Given the description of an element on the screen output the (x, y) to click on. 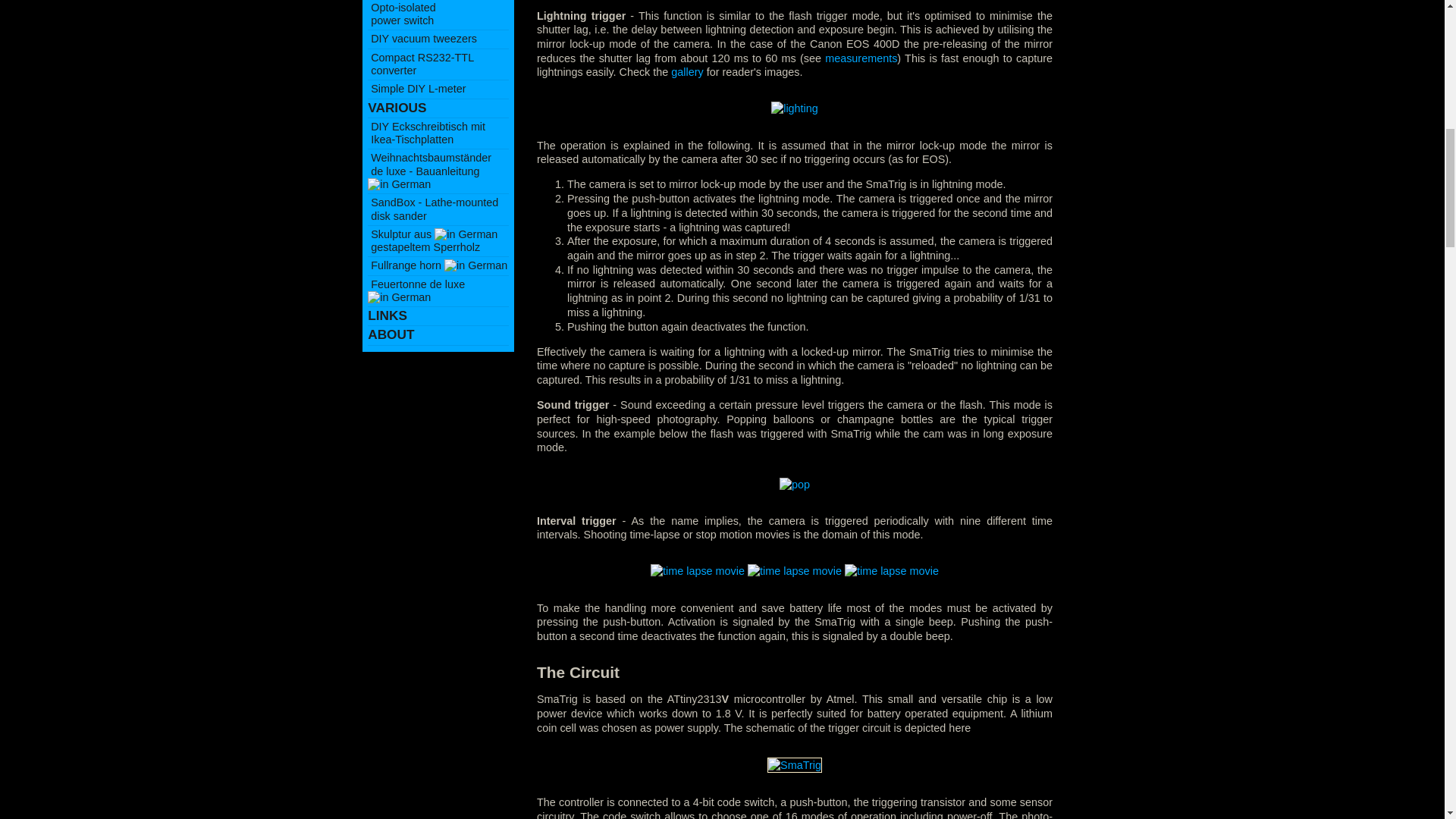
ABOUT (390, 335)
 Feuertonne de luxe  (417, 290)
VARIOUS (397, 108)
 Simple DIY L-meter (416, 88)
 Skulptur aus  gestapeltem Sperrholz (432, 240)
 DIY vacuum tweezers (432, 208)
 Fullrange horn  (422, 38)
